Given the description of an element on the screen output the (x, y) to click on. 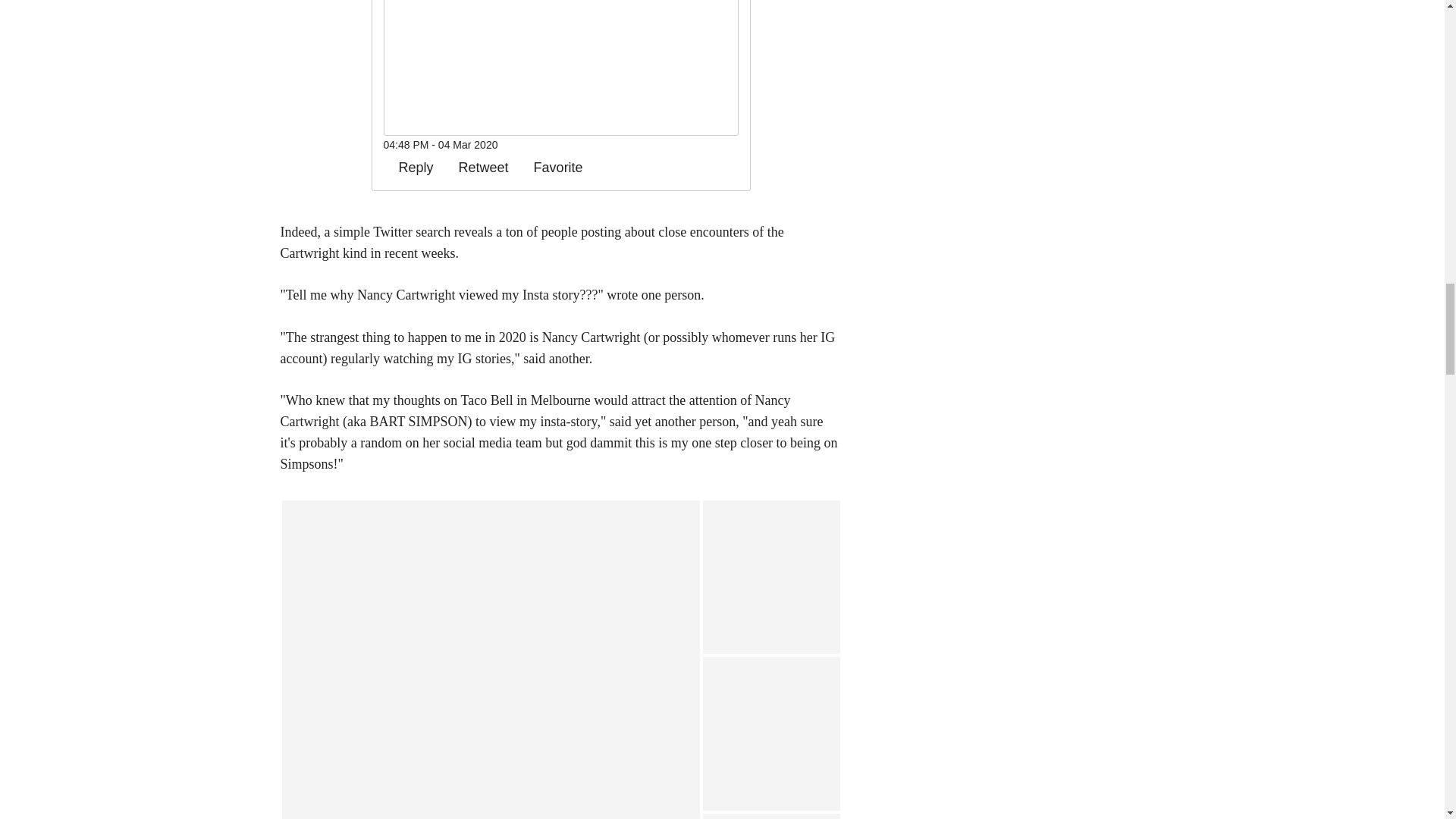
Favorite (550, 167)
Reply (408, 167)
Retweet (476, 167)
04:48 PM - 04 Mar 2020 (440, 144)
